Given the description of an element on the screen output the (x, y) to click on. 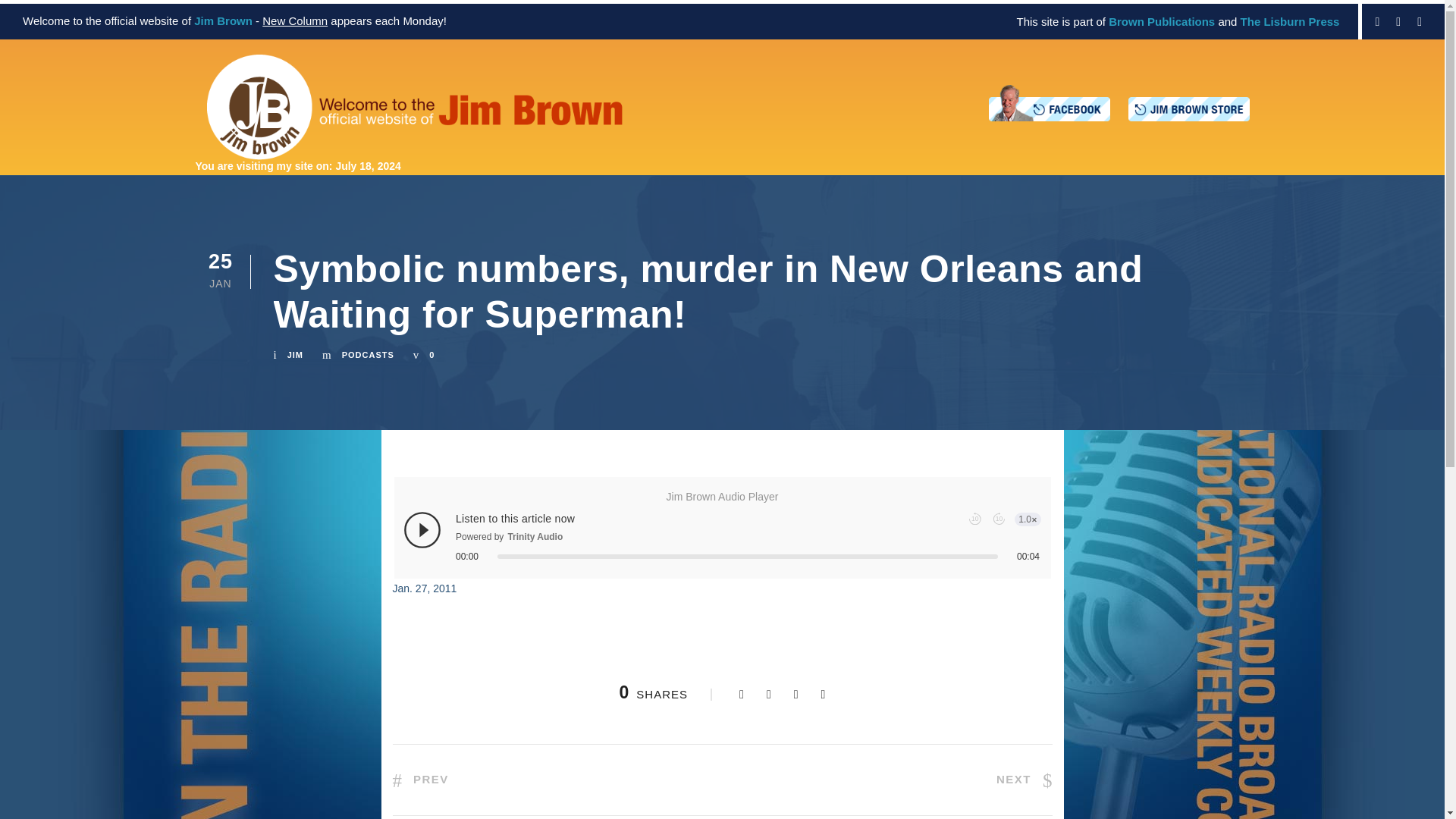
NEXT (1023, 779)
PODCASTS (368, 354)
jb-logo-wide (414, 106)
Jan. 27, 2011 (425, 588)
Posts by Jim (294, 354)
Trinity Audio Player (722, 536)
JIM (294, 354)
PREV (420, 779)
New Column (294, 20)
